Given the description of an element on the screen output the (x, y) to click on. 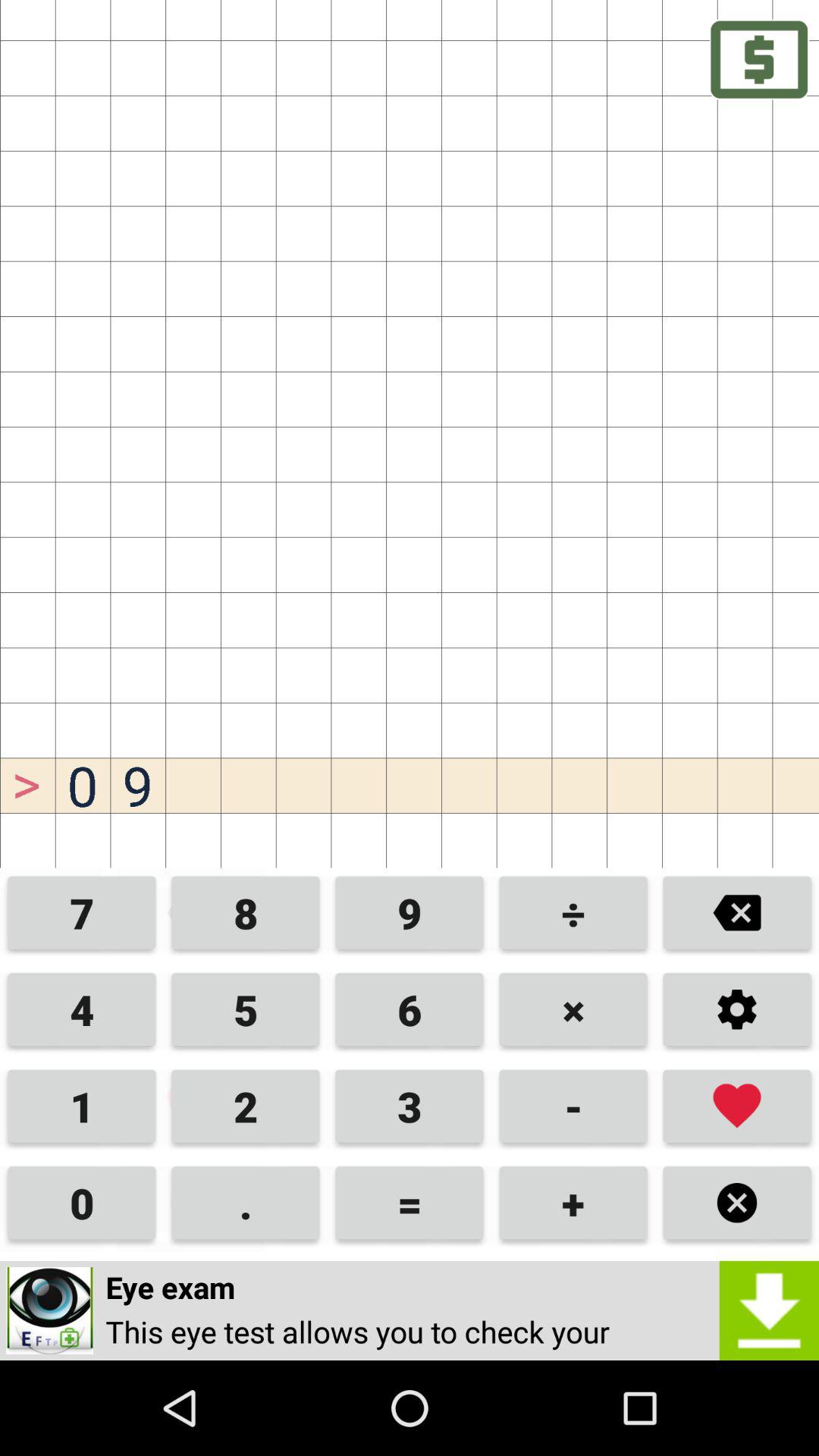
backspace (737, 914)
